Given the description of an element on the screen output the (x, y) to click on. 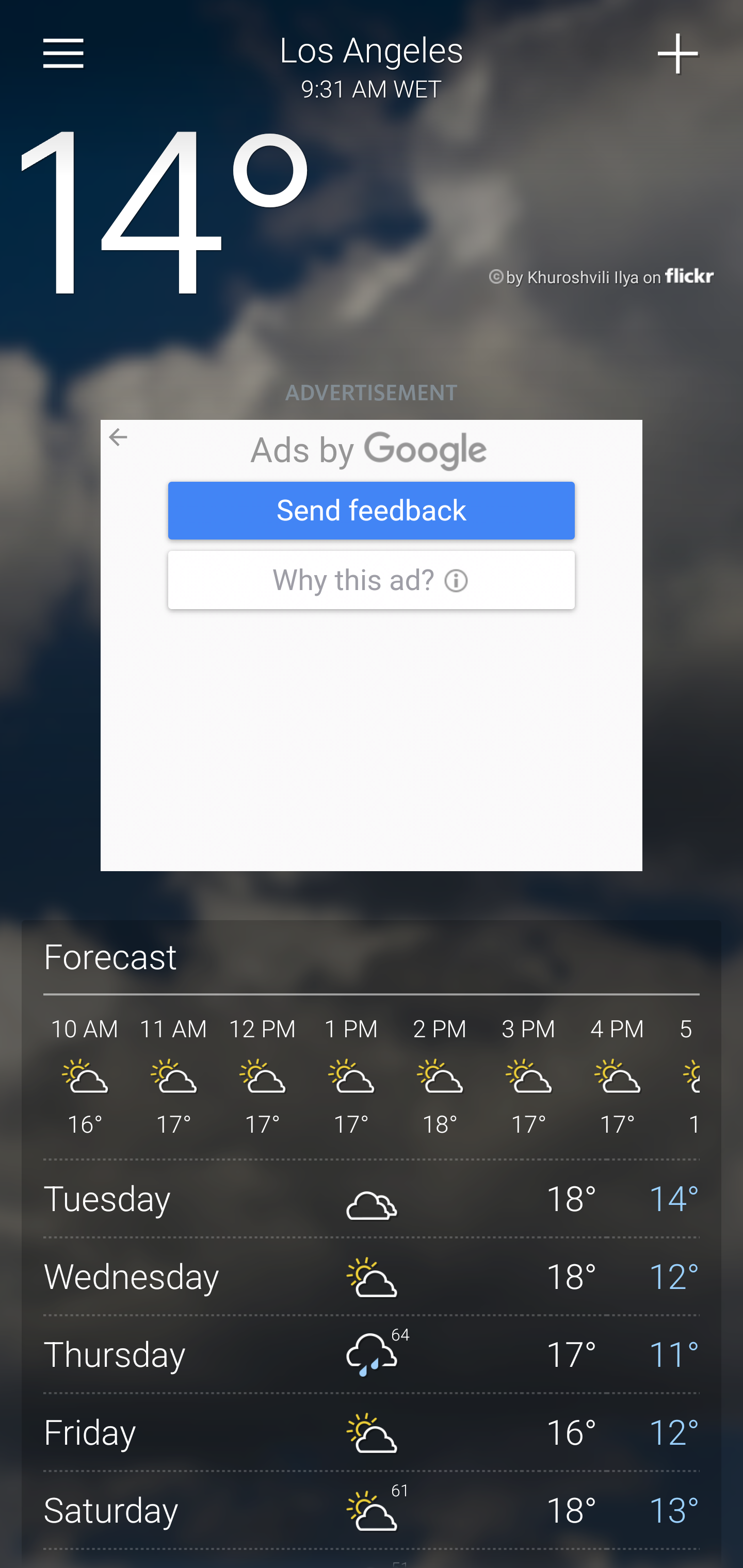
Sidebar (64, 54)
Add City (678, 53)
Advertisement (371, 645)
Advertisement (371, 645)
